Given the description of an element on the screen output the (x, y) to click on. 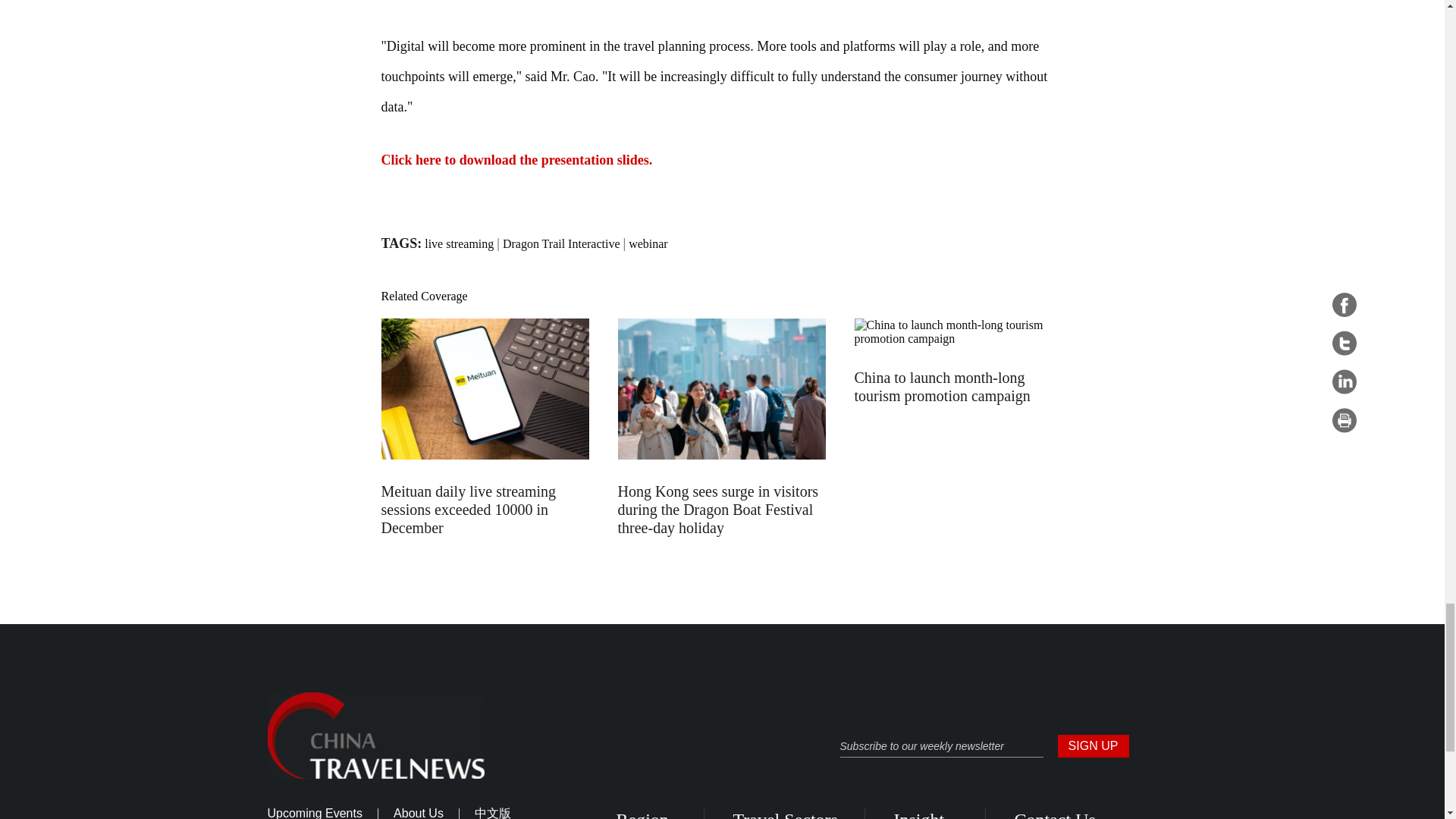
Upcoming Events (313, 812)
SIGN UP (1092, 745)
live streaming (459, 243)
webinar (648, 243)
Click here to download the presentation slides. (516, 159)
China to launch month-long tourism promotion campaign (941, 386)
Dragon Trail Interactive (561, 243)
